Given the description of an element on the screen output the (x, y) to click on. 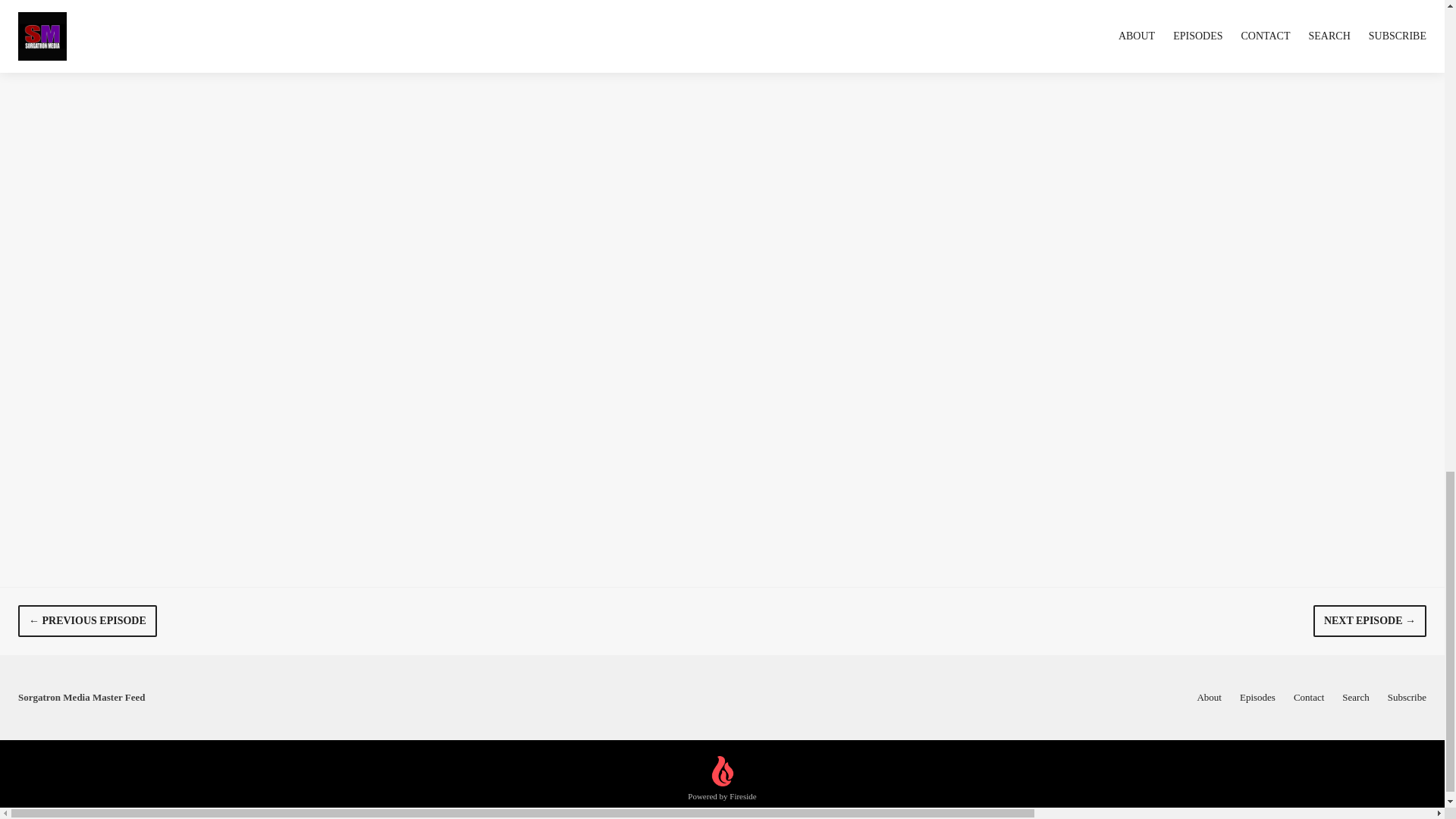
Subscribe (1406, 696)
Powered by Fireside (721, 779)
Powered by Fireside (721, 779)
Search (1355, 696)
Episodes (1257, 696)
Contact (1308, 696)
About (1208, 696)
